Given the description of an element on the screen output the (x, y) to click on. 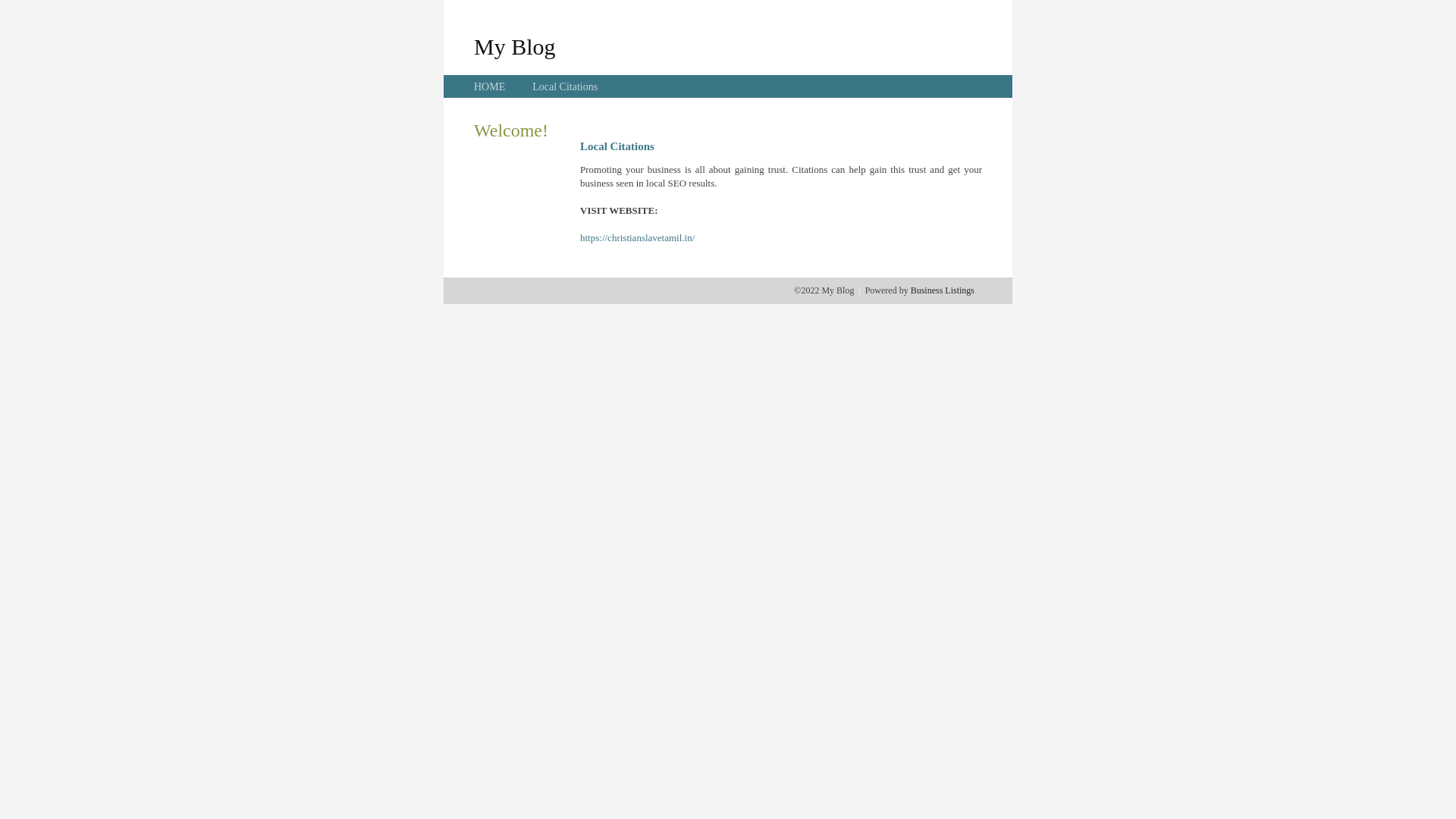
https://christianslavetamil.in/ Element type: text (637, 237)
HOME Element type: text (489, 86)
Local Citations Element type: text (564, 86)
Business Listings Element type: text (942, 290)
My Blog Element type: text (514, 46)
